Given the description of an element on the screen output the (x, y) to click on. 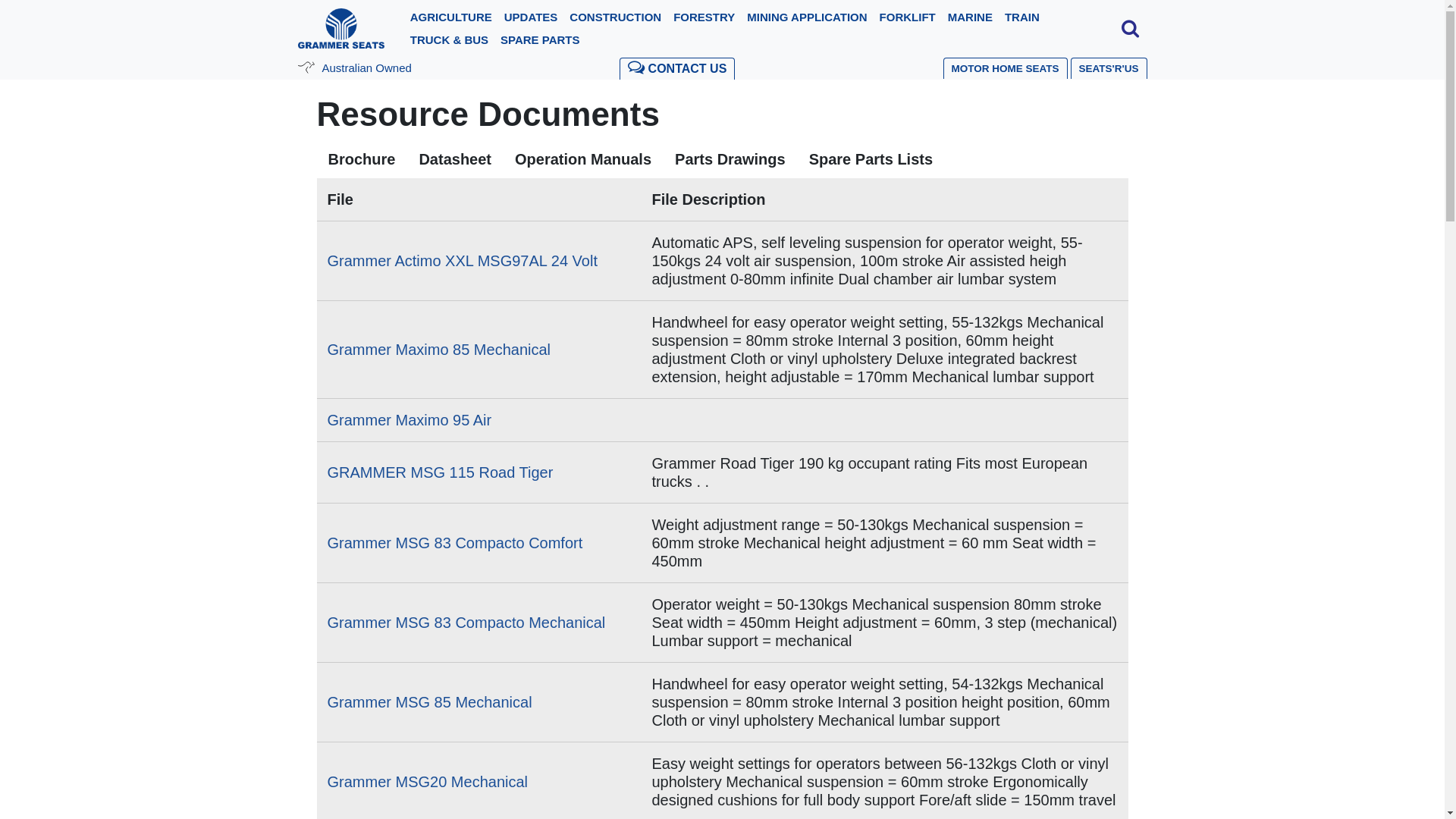
Grammer MSG 85 Mechanical Element type: text (429, 701)
AGRICULTURE Element type: text (451, 17)
Grammer Maximo 85 Mechanical Element type: text (439, 349)
Grammer MSG 83 Compacto Comfort Element type: text (455, 542)
MINING APPLICATION Element type: text (806, 17)
TRAIN Element type: text (1021, 17)
Grammer Actimo XXL MSG97AL 24 Volt Element type: text (462, 260)
GRAMMER MSG 115 Road Tiger Element type: text (440, 472)
FORESTRY Element type: text (703, 17)
UPDATES Element type: text (531, 17)
SPARE PARTS Element type: text (539, 39)
Grammer MSG 83 Compacto Mechanical Element type: text (466, 622)
Logo Element type: hover (340, 26)
FORKLIFT Element type: text (907, 17)
MARINE Element type: text (969, 17)
CONSTRUCTION Element type: text (615, 17)
Grammer MSG20 Mechanical Element type: text (427, 781)
MOTOR HOME SEATS Element type: text (1005, 68)
TRUCK & BUS Element type: text (449, 39)
 CONTACT US Element type: text (677, 67)
Grammer Maximo 95 Air Element type: text (722, 420)
SEATS'R'US Element type: text (1108, 68)
Grammer Maximo 95 Air Element type: text (409, 419)
